Given the description of an element on the screen output the (x, y) to click on. 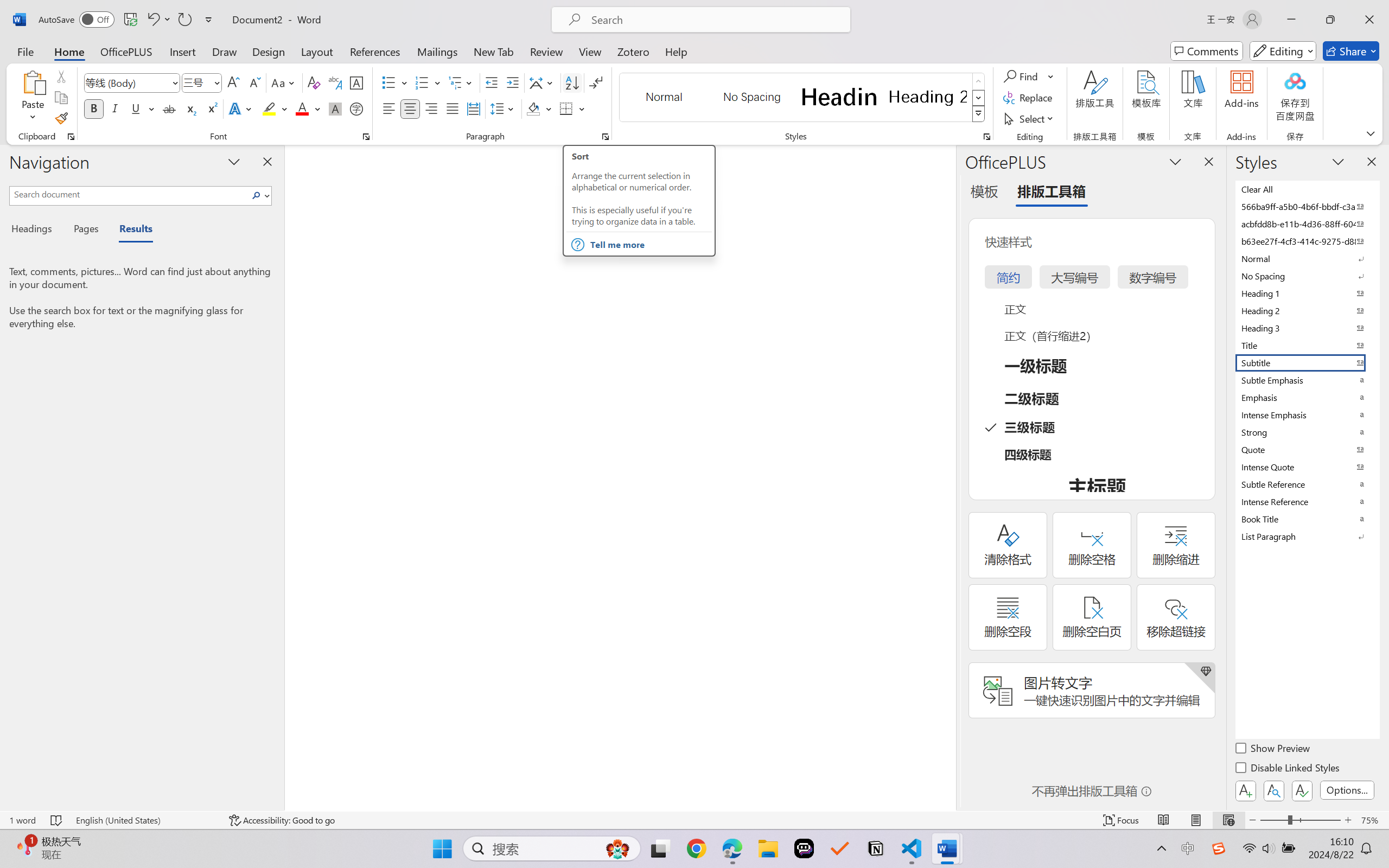
Terminal actions (868, 640)
Terminal (174, 10)
Terminal 1 powershell (1357, 657)
Editor actions (1359, 31)
Run and Debug (Ctrl+Shift+D) (13, 122)
Ports (362, 640)
Title actions (1285, 10)
Toggle Panel (Ctrl+J) (1278, 9)
Search (Ctrl+Shift+F) (13, 64)
test.py (197, 31)
Toggle Primary Side Bar (Ctrl+B) (1264, 9)
Notifications (1376, 836)
Run or Debug... (1349, 31)
Explorer (Ctrl+Shift+E) (13, 35)
Close (Ctrl+F4) (351, 31)
